Given the description of an element on the screen output the (x, y) to click on. 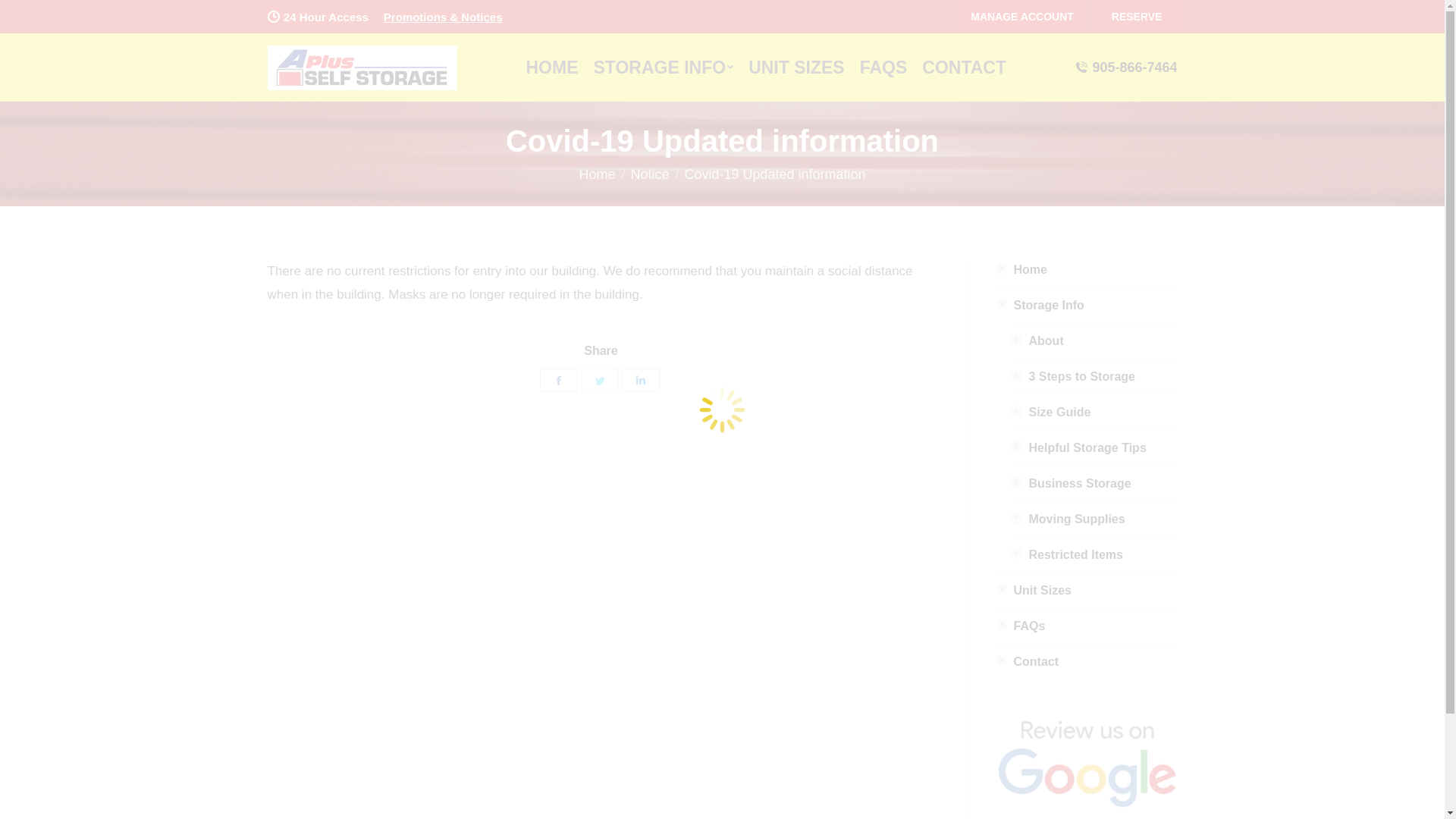
Restricted Items Element type: text (1067, 554)
HOME Element type: text (551, 67)
Promotions & Notices Element type: text (442, 16)
Share on Twitter Element type: text (599, 379)
Contact Element type: text (1027, 661)
Moving Supplies Element type: text (1068, 518)
Share on Facebook Element type: text (558, 379)
Home Element type: text (1021, 269)
FAQS Element type: text (883, 67)
Business Storage Element type: text (1071, 483)
Helpful Storage Tips Element type: text (1078, 447)
Storage Info Element type: text (1040, 304)
Unit Sizes Element type: text (1033, 590)
CONTACT Element type: text (964, 67)
3 Steps to Storage Element type: text (1073, 376)
Size Guide Element type: text (1051, 411)
STORAGE INFO Element type: text (663, 67)
Home Element type: text (596, 174)
UNIT SIZES Element type: text (796, 67)
Notice Element type: text (649, 174)
FAQs Element type: text (1020, 625)
MANAGE ACCOUNT Element type: text (1022, 16)
RESERVE Element type: text (1136, 16)
About Element type: text (1037, 340)
Share on LinkedIn Element type: text (640, 379)
